Given the description of an element on the screen output the (x, y) to click on. 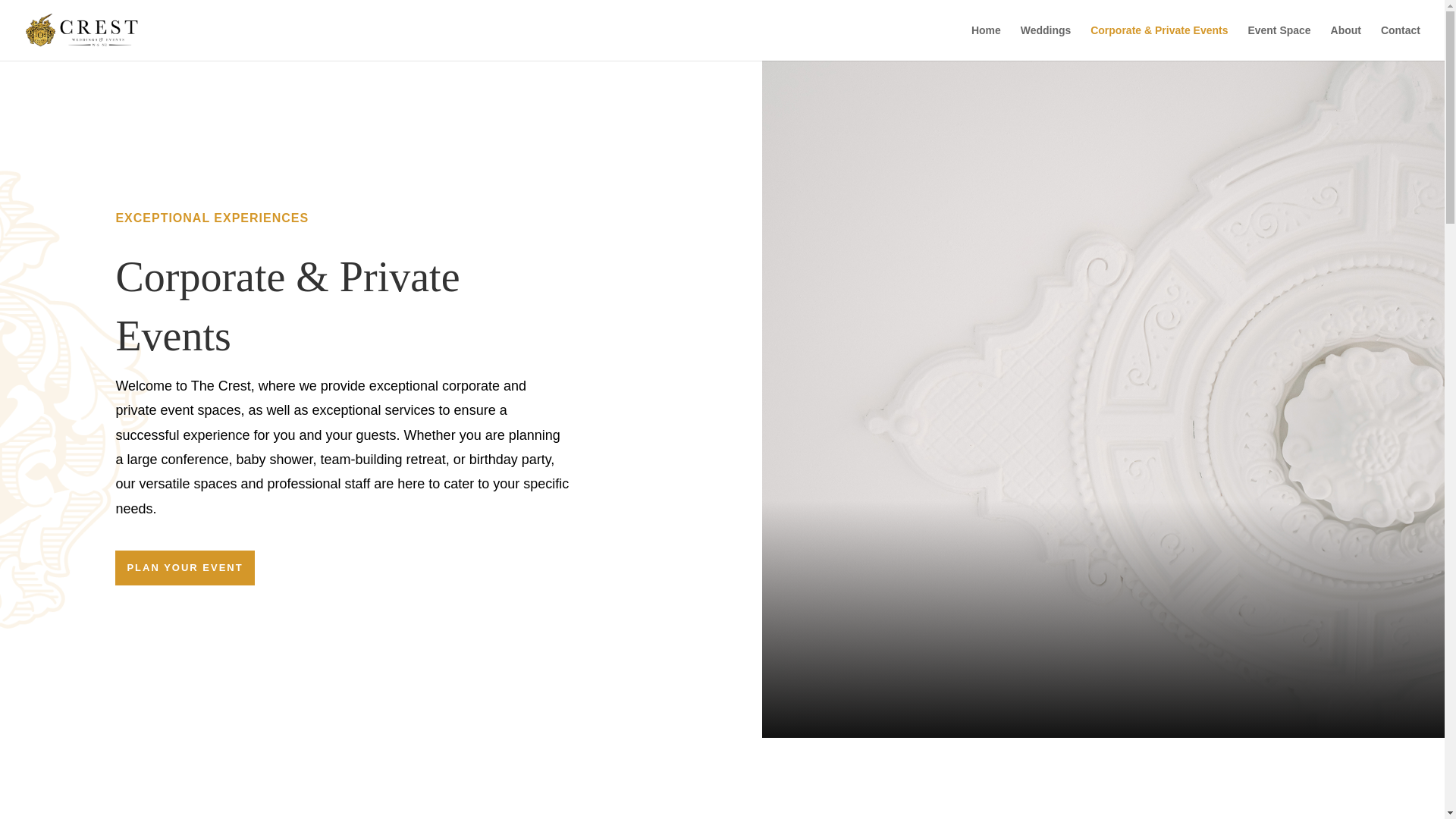
Event Space (1278, 42)
PLAN YOUR EVENT (184, 567)
Weddings (1045, 42)
Contact (1400, 42)
